Given the description of an element on the screen output the (x, y) to click on. 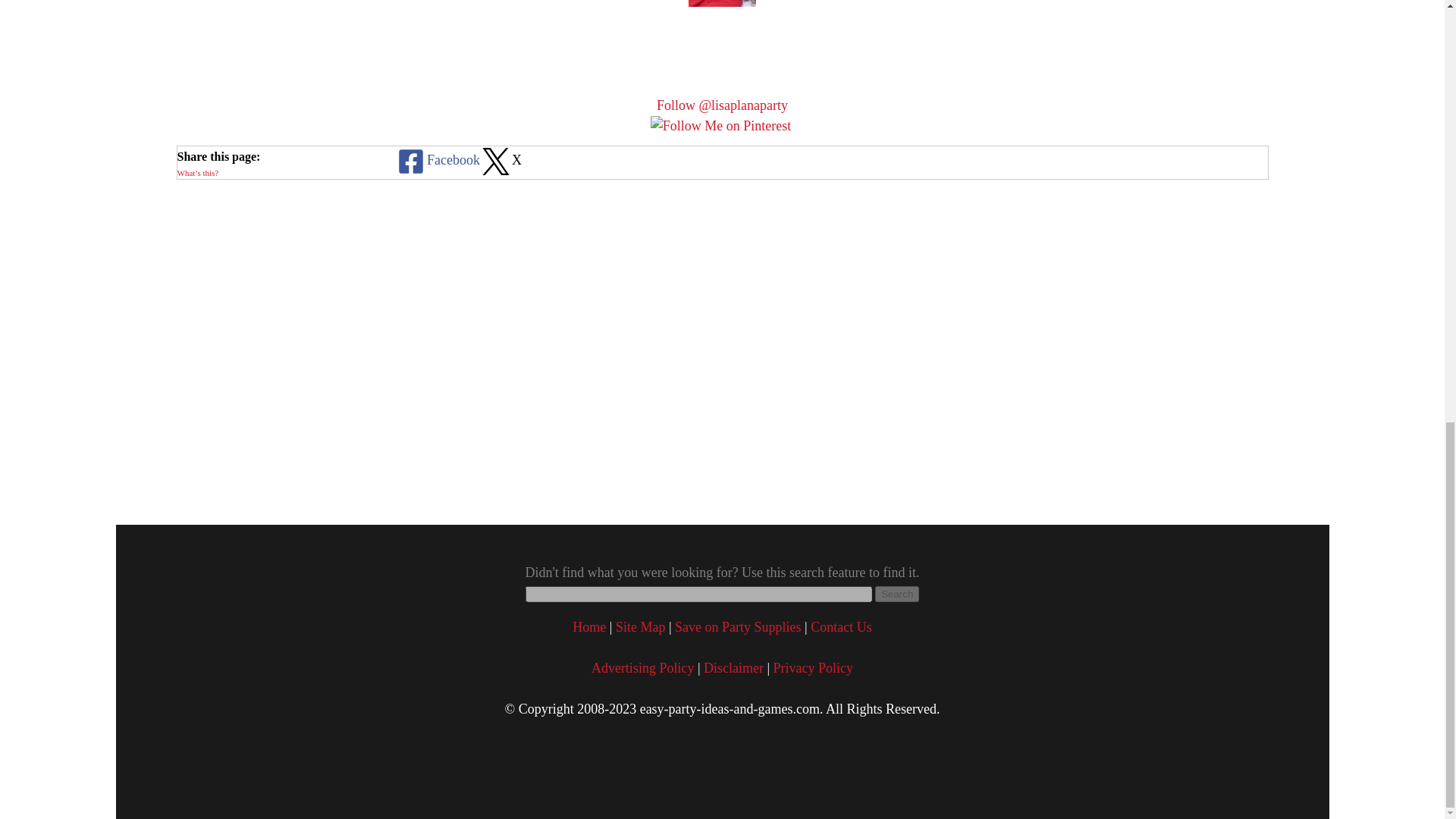
Search (896, 593)
Lisa (721, 3)
